Given the description of an element on the screen output the (x, y) to click on. 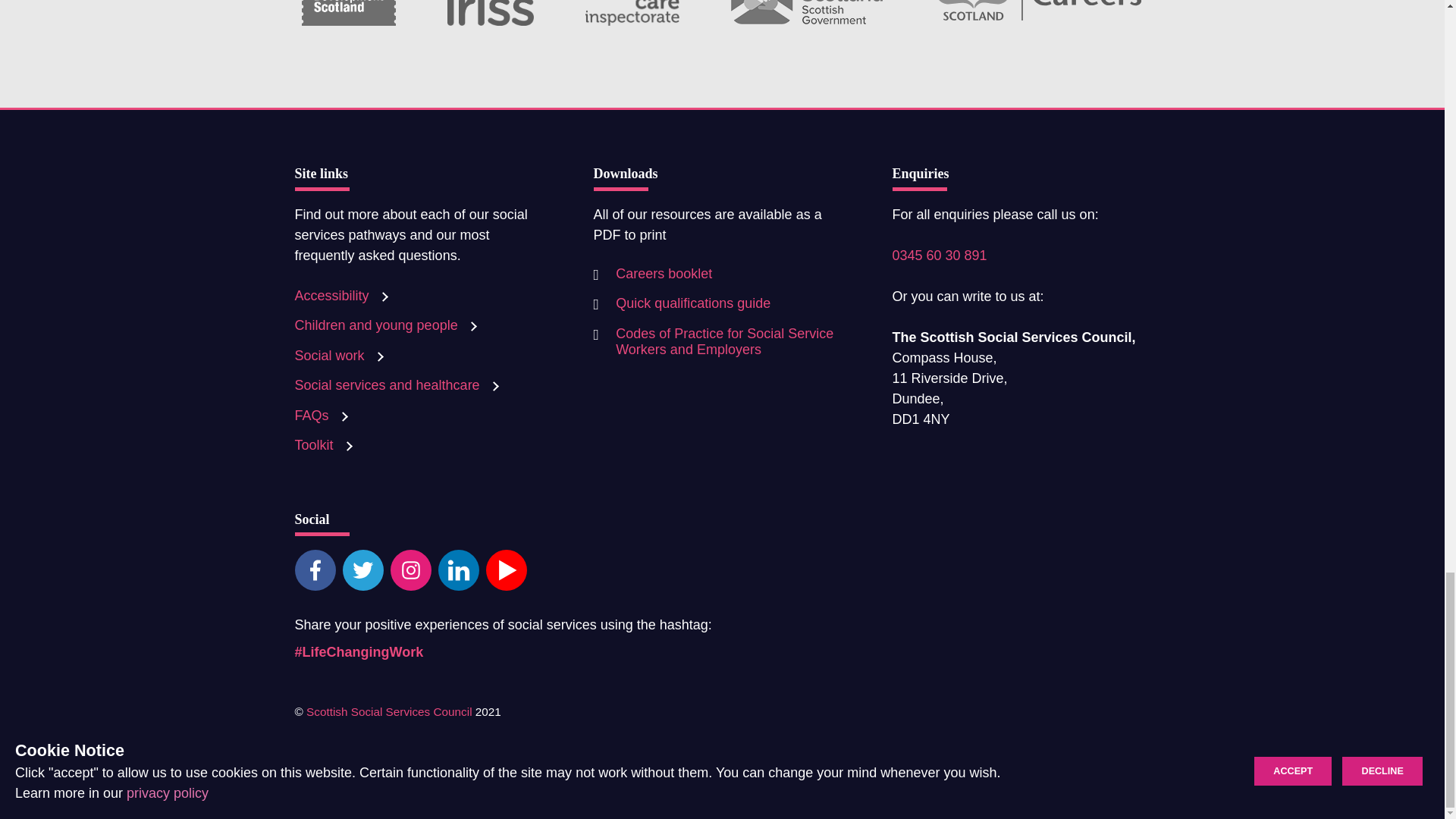
Link to SSSC Main site (390, 711)
Scottish Social Services Council (390, 711)
Codes of Practice for Social Service Workers and Employers (721, 341)
Follow us on LinkedIn (458, 569)
Like us on Facebook (314, 569)
Social work (341, 355)
FAQs (323, 415)
Quick qualifications guide (681, 304)
Follow us on Youtube (504, 569)
Follow us on Twitter (363, 569)
Children and young people (387, 324)
Accessibility (343, 295)
Follow us on Instagram (410, 569)
Social services and healthcare (398, 385)
Toolkit (325, 444)
